Given the description of an element on the screen output the (x, y) to click on. 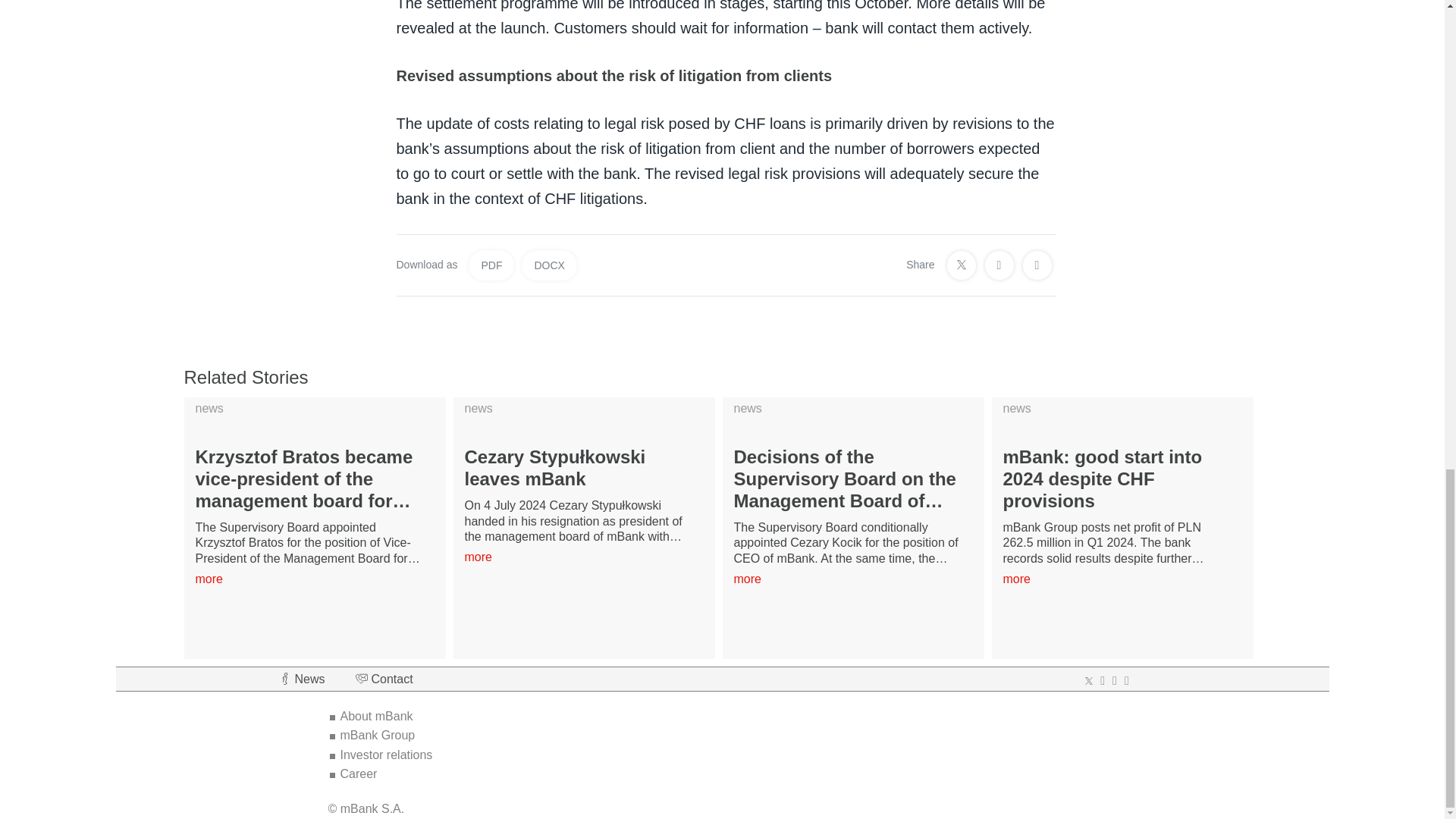
DOCX (548, 265)
PDF (490, 265)
